Given the description of an element on the screen output the (x, y) to click on. 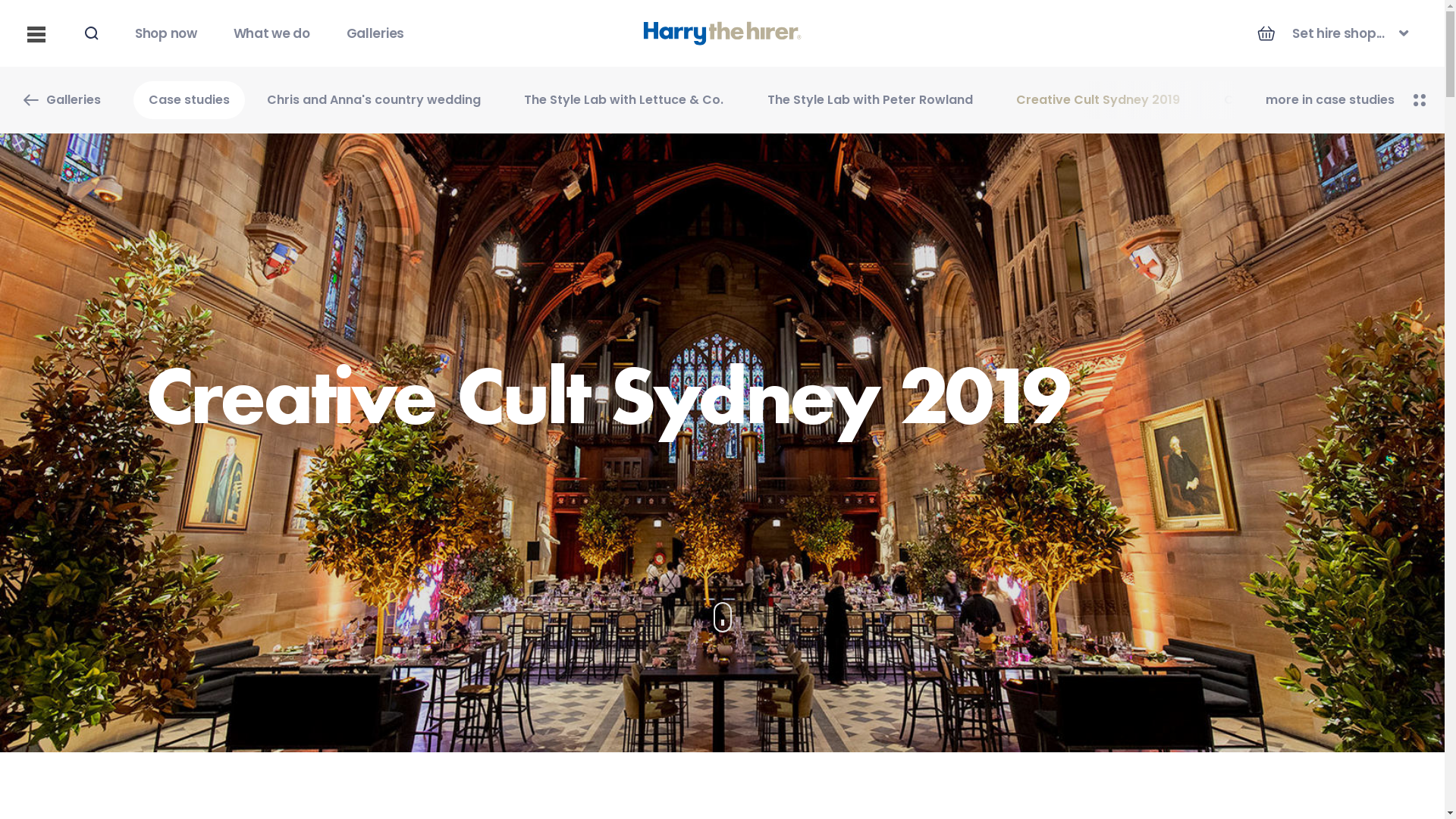
The Style Lab with Lettuce & Co. Element type: text (623, 100)
  Galleries Element type: text (60, 100)
Shop now Element type: text (165, 33)
Creative Cult Sydney 2019 Element type: text (1098, 100)
Chris and Anna's country wedding Element type: text (373, 100)
What we do Element type: text (271, 33)
Creative Cult Melbourne 2019 Element type: text (1315, 100)
Galleries Element type: text (375, 33)
The Style Lab with Peter Rowland Element type: text (869, 100)
Case studies Element type: text (188, 100)
